Given the description of an element on the screen output the (x, y) to click on. 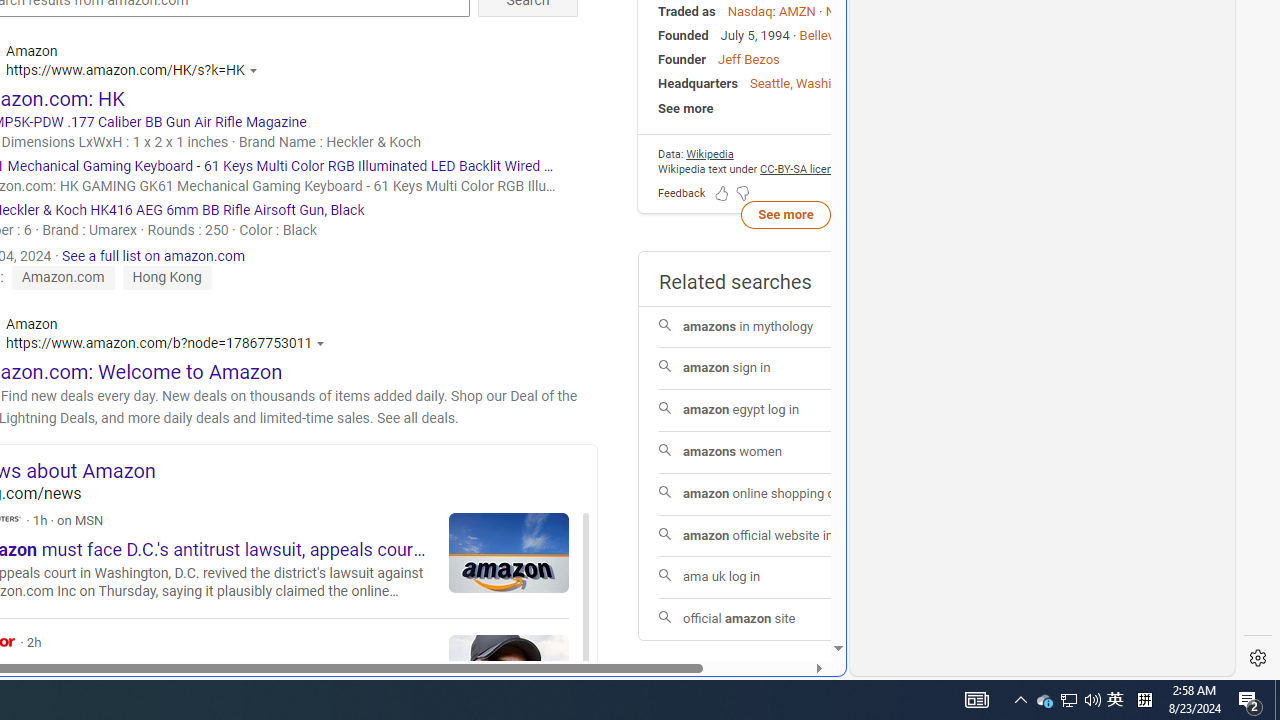
official amazon site (785, 619)
Seattle, Washington (807, 83)
Actions for this site (323, 343)
Nasdaq (750, 11)
AMZN (797, 11)
amazon egypt log in (785, 410)
AutomationID: mfa_root (762, 588)
amazons in mythology (785, 326)
Traded as (686, 11)
amazon egypt log in (785, 411)
Bellevue, Washington (860, 35)
Headquarters (697, 83)
